Given the description of an element on the screen output the (x, y) to click on. 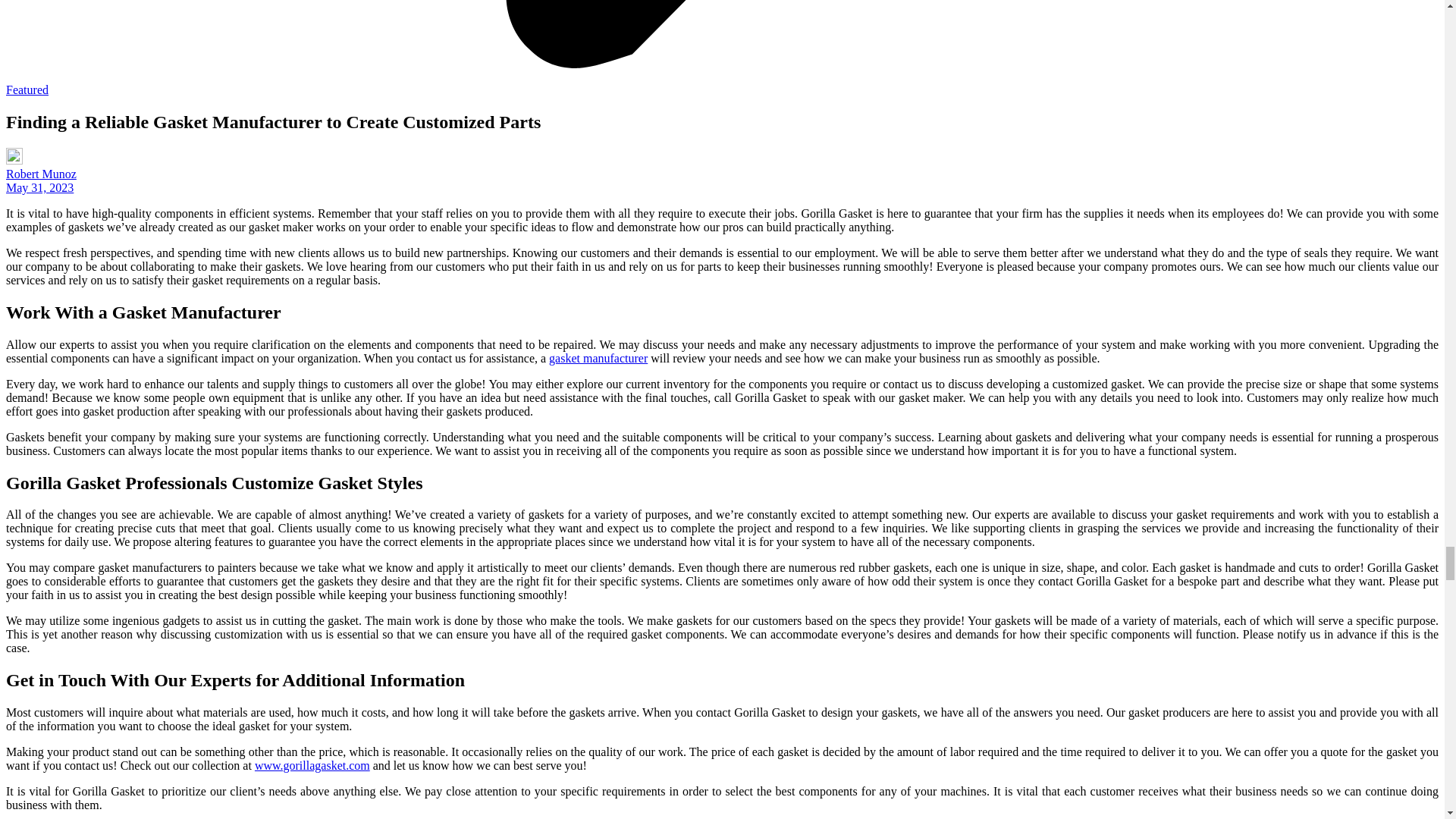
May 31, 2023 (39, 187)
Robert Munoz (41, 173)
www.gorillagasket.com (311, 765)
Featured (26, 89)
gasket manufacturer (597, 358)
